Given the description of an element on the screen output the (x, y) to click on. 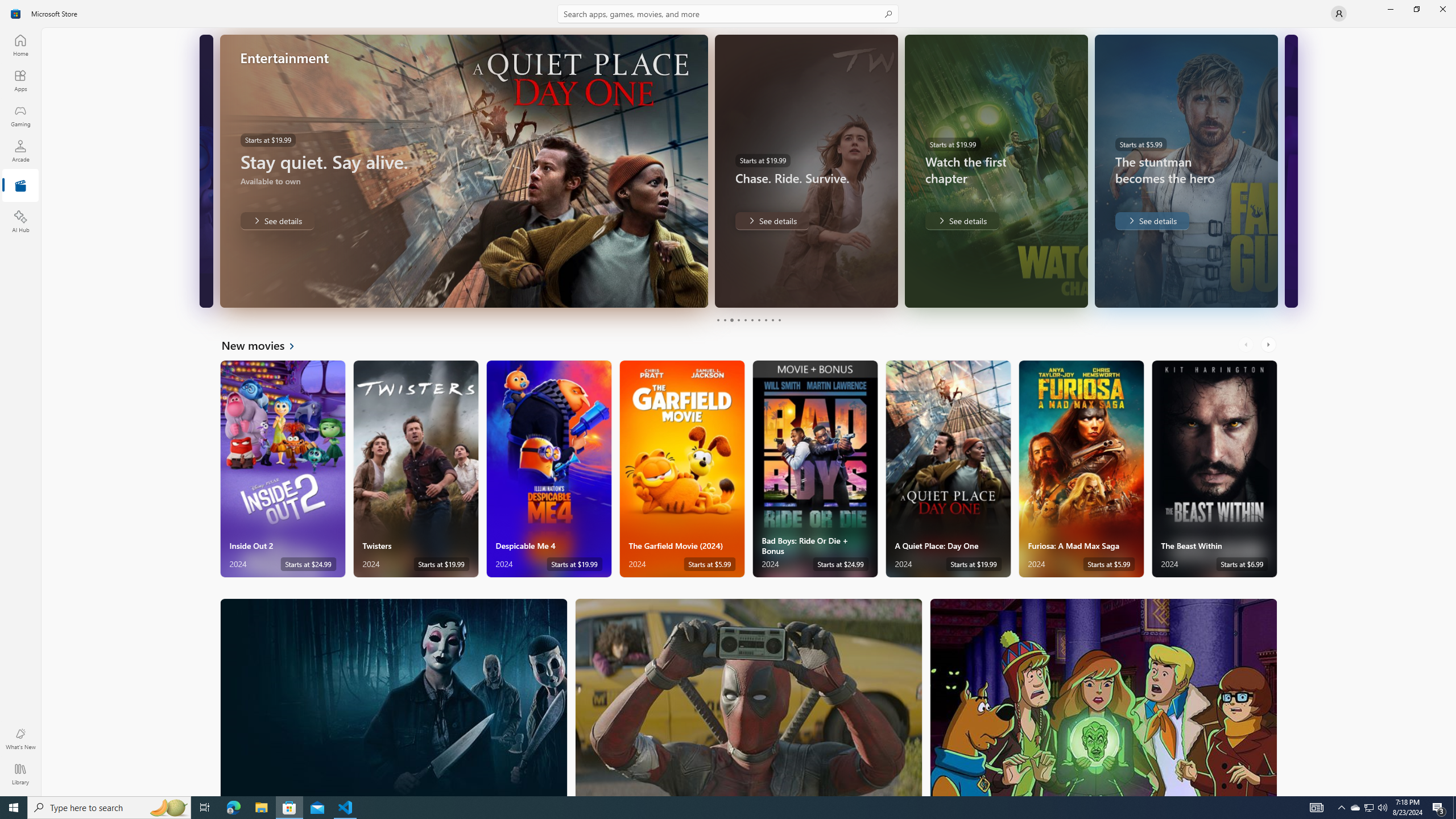
See all  New movies (264, 345)
Page 8 (764, 319)
AutomationID: RightScrollButton (1269, 344)
Page 4 (738, 319)
AutomationID: PosterImage (1103, 697)
